Given the description of an element on the screen output the (x, y) to click on. 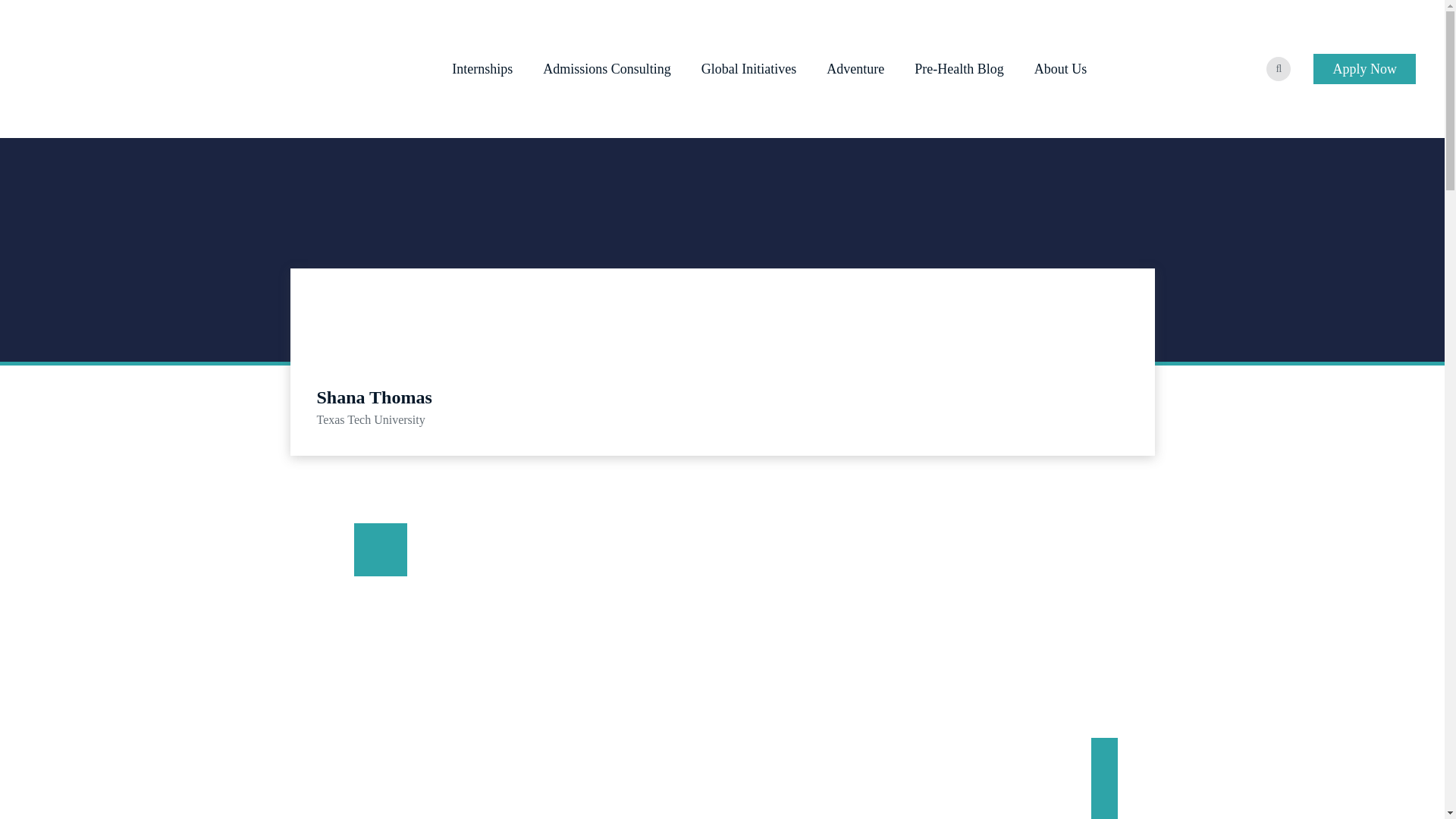
Global Initiatives (748, 68)
Internships (481, 68)
Adventure (855, 68)
Pre-Health Blog (958, 68)
Admissions Consulting (607, 68)
